Given the description of an element on the screen output the (x, y) to click on. 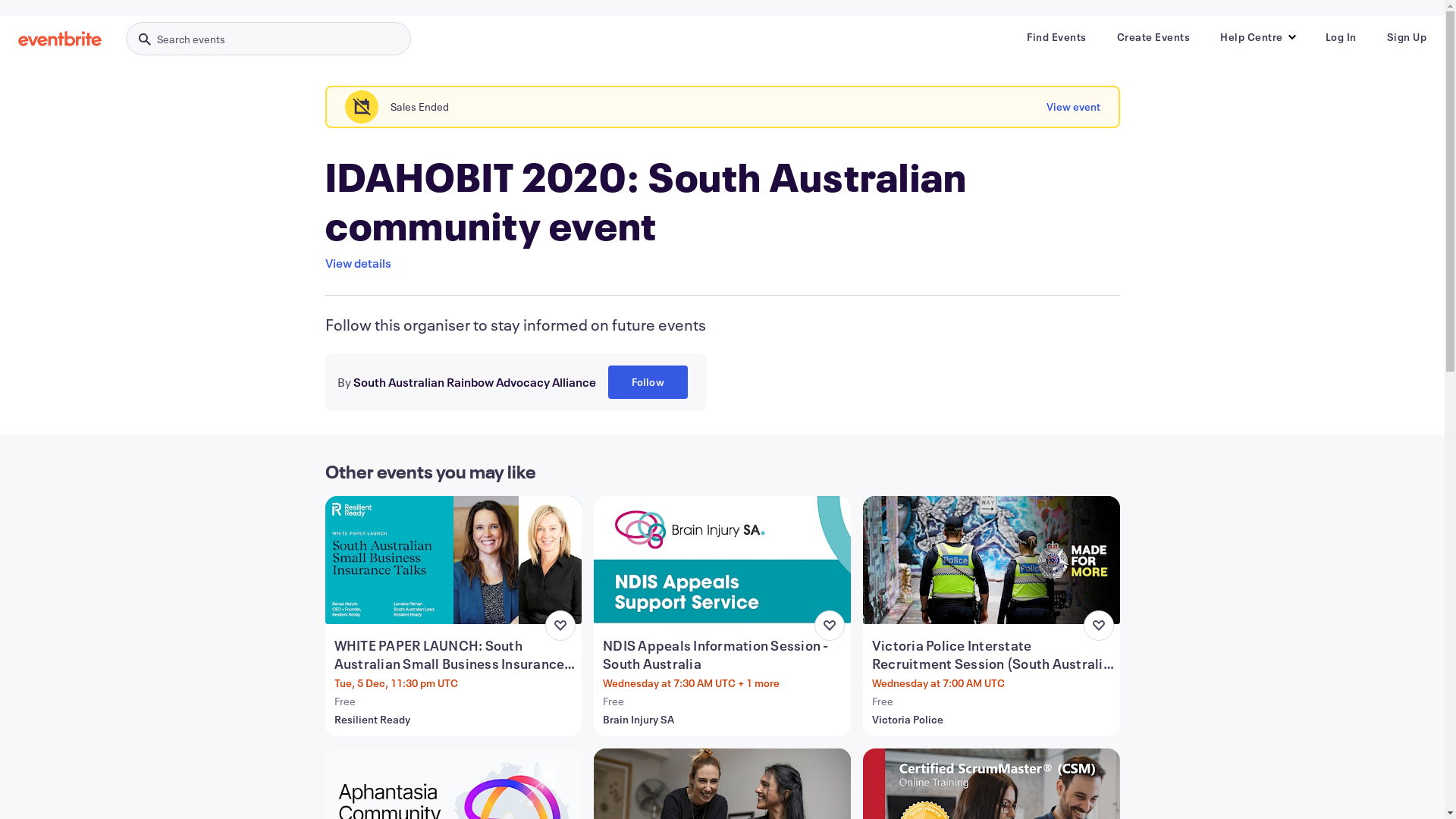
View event Element type: text (1073, 106)
View details Element type: text (357, 262)
NDIS Appeals Information Session - South Australia Element type: text (723, 654)
Follow Element type: text (647, 381)
Eventbrite Element type: hover (59, 38)
Search events Element type: text (268, 38)
Find Events Element type: text (1056, 36)
Sign Up Element type: text (1406, 36)
Create Events Element type: text (1152, 36)
Log In Element type: text (1340, 36)
